Given the description of an element on the screen output the (x, y) to click on. 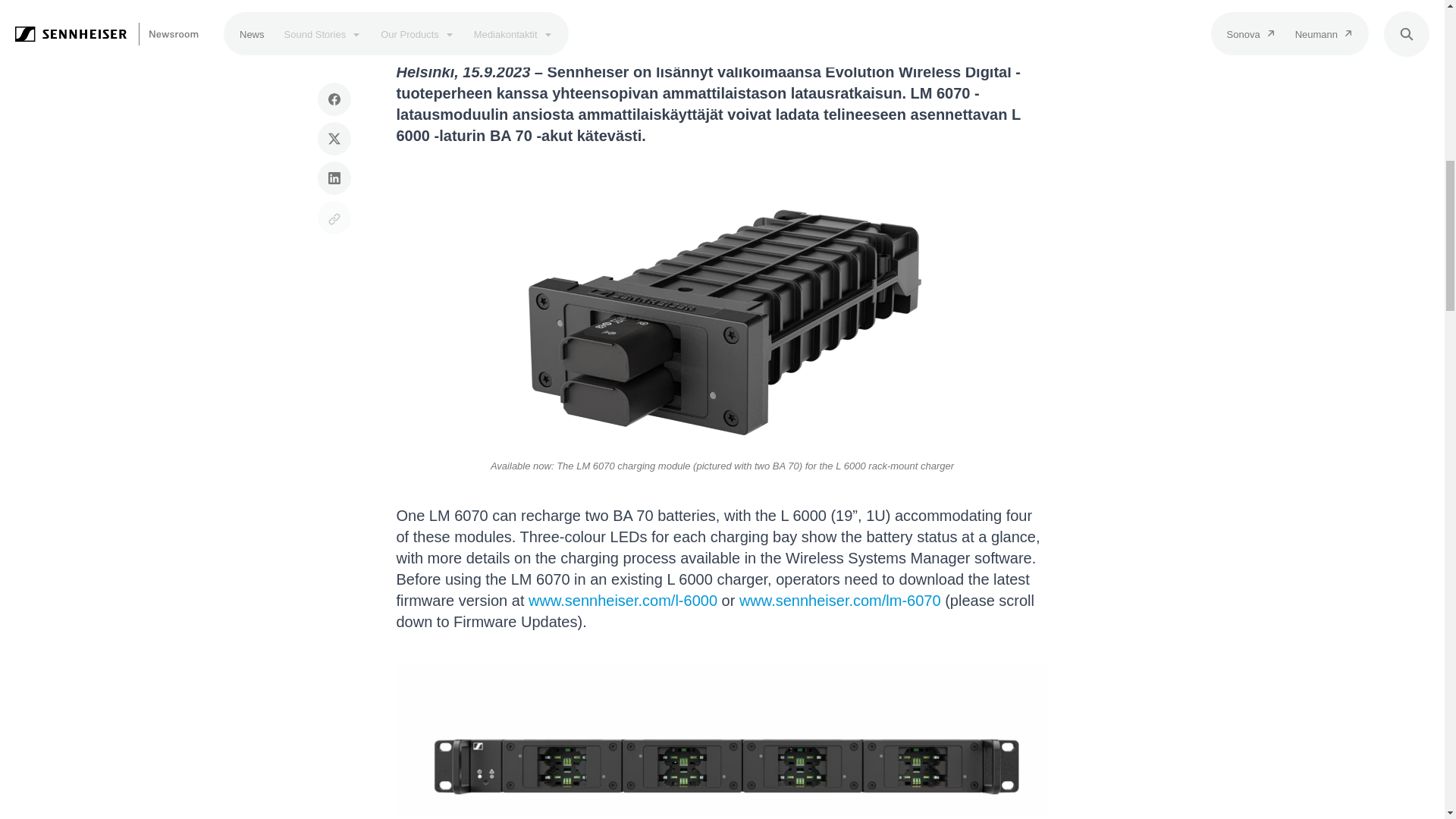
Kopioi URL (333, 103)
The L 6000 rack-mount charger with four LM 6070 modules (722, 739)
